Given the description of an element on the screen output the (x, y) to click on. 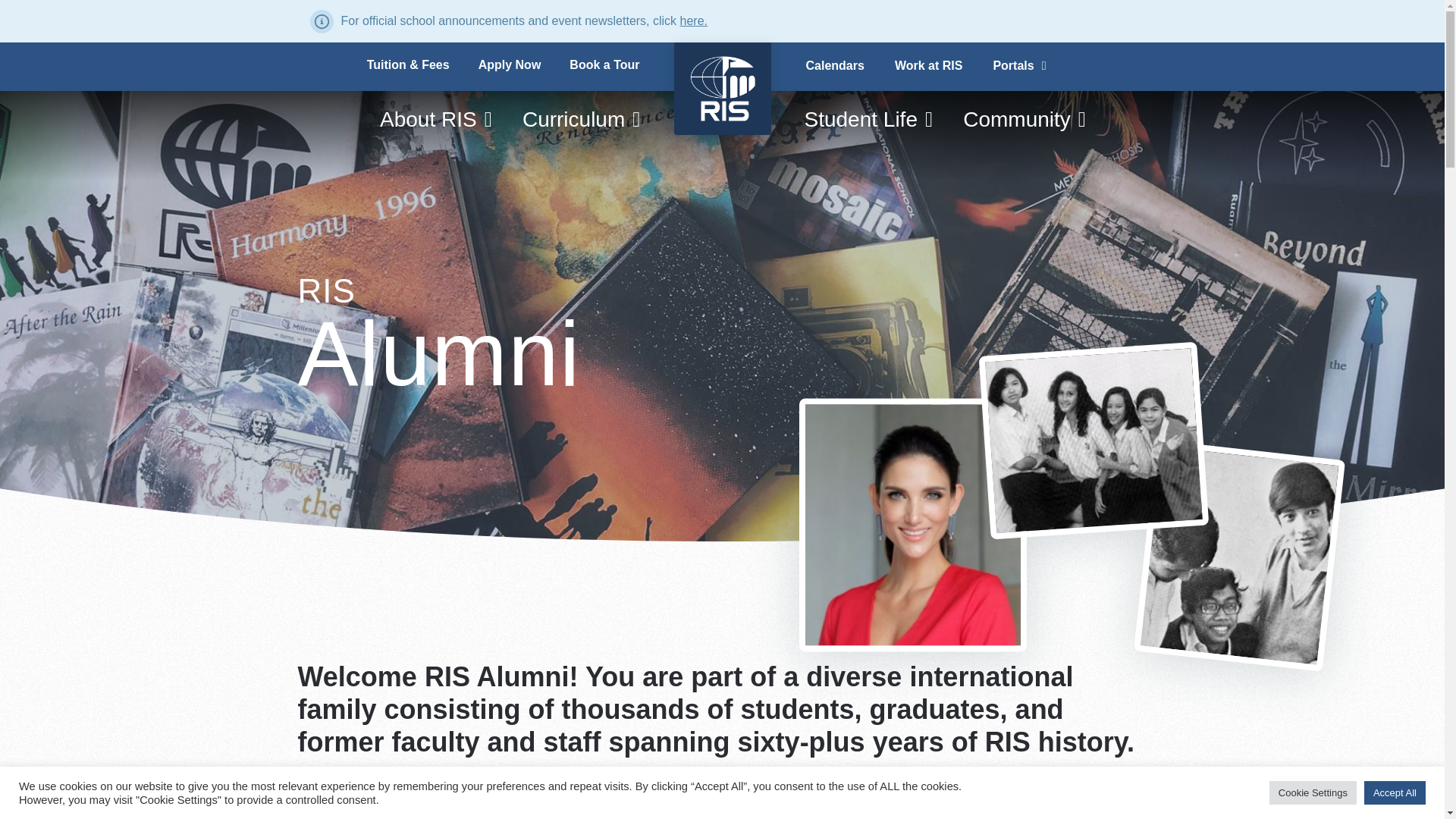
here. (693, 20)
Apply Now (510, 65)
Book a Tour (603, 65)
